Given the description of an element on the screen output the (x, y) to click on. 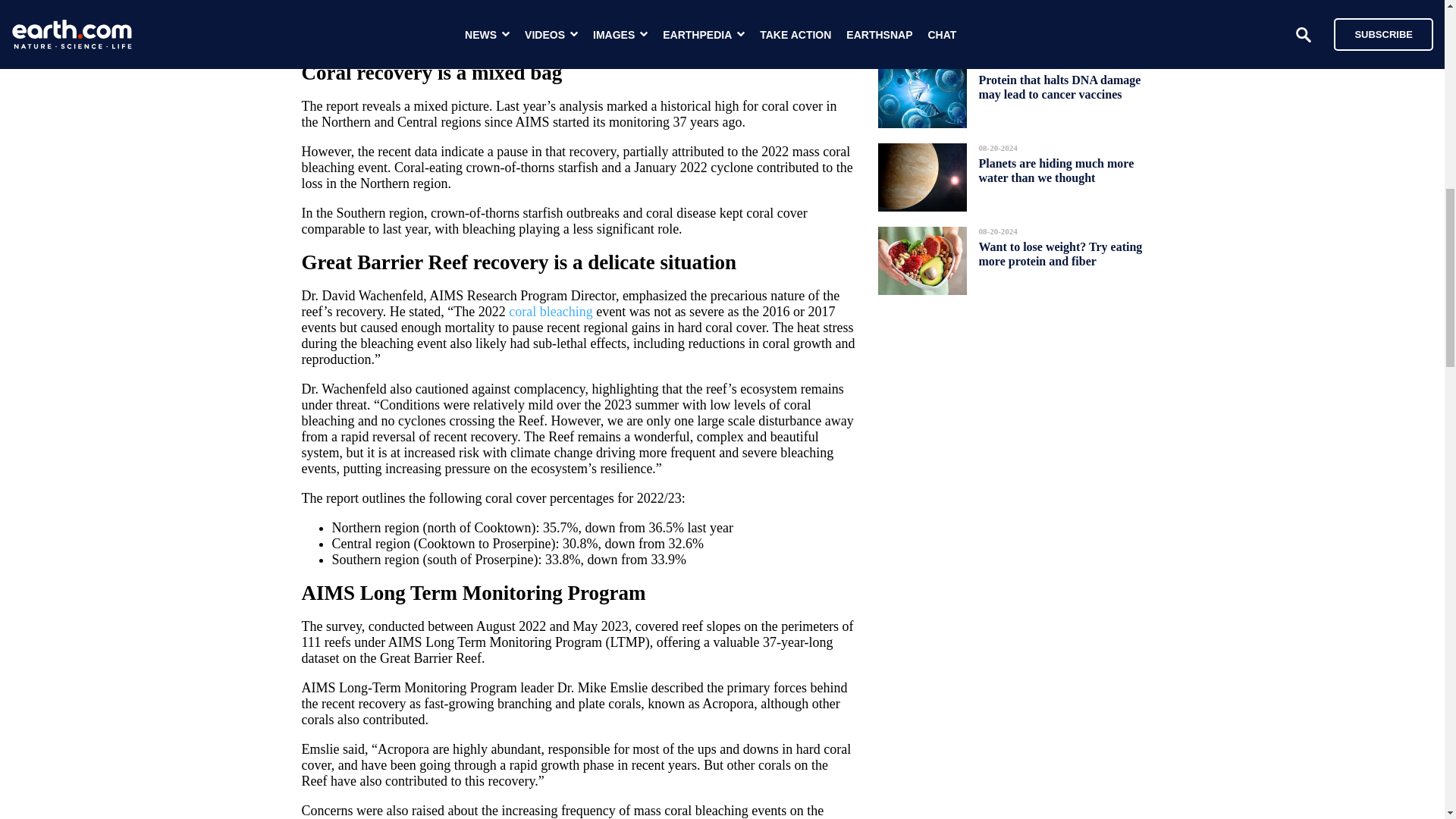
Protein that halts DNA damage may lead to cancer vaccines (1059, 87)
Planets are hiding much more water than we thought (1056, 170)
Want to lose weight? Try eating more protein and fiber (1059, 253)
coral bleaching (550, 311)
